Given the description of an element on the screen output the (x, y) to click on. 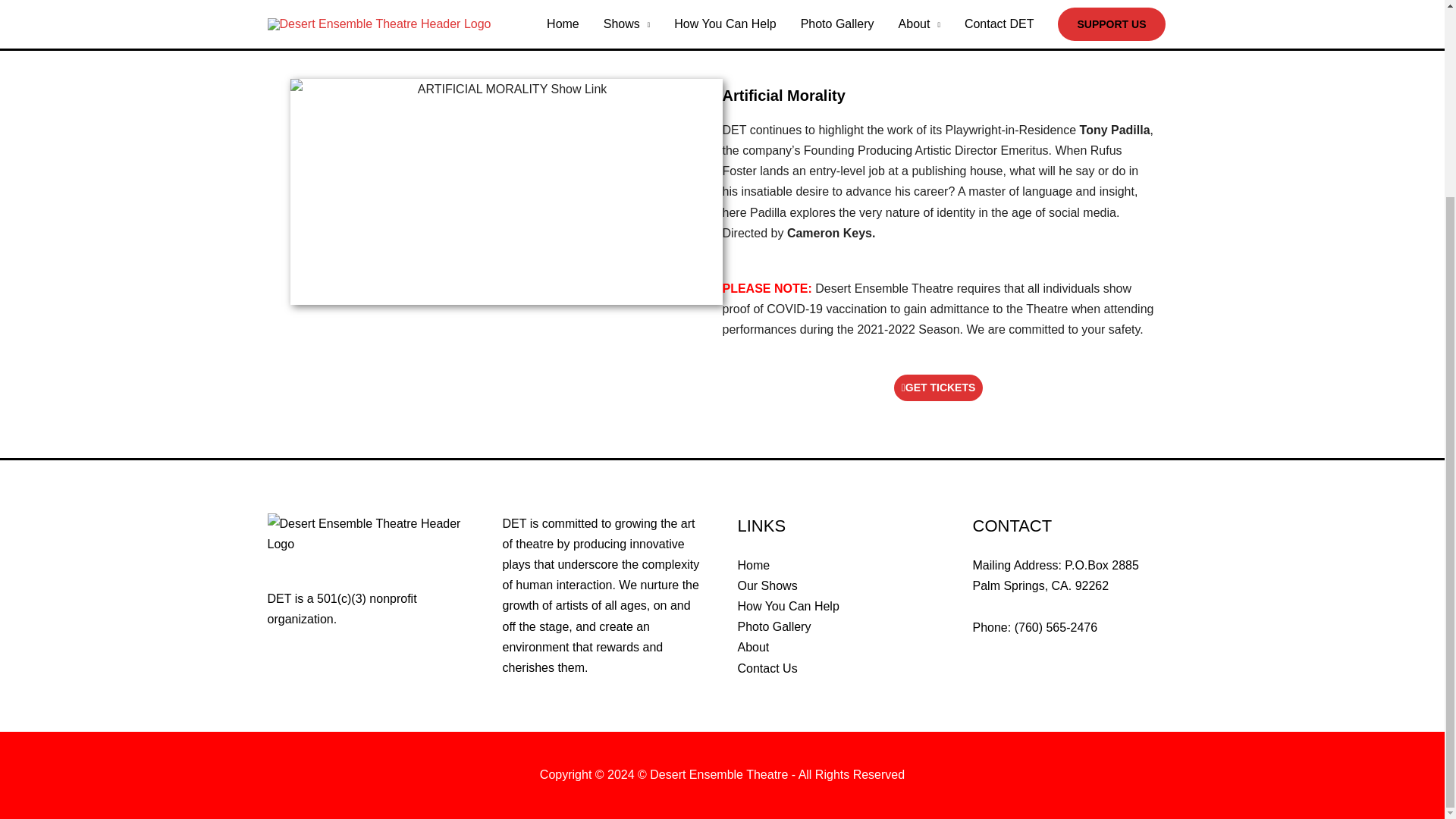
How You Can Help (787, 605)
About (752, 646)
Contact Us (766, 667)
Our Shows (766, 585)
GET TICKETS (938, 387)
Photo Gallery (773, 626)
Home (753, 564)
